Given the description of an element on the screen output the (x, y) to click on. 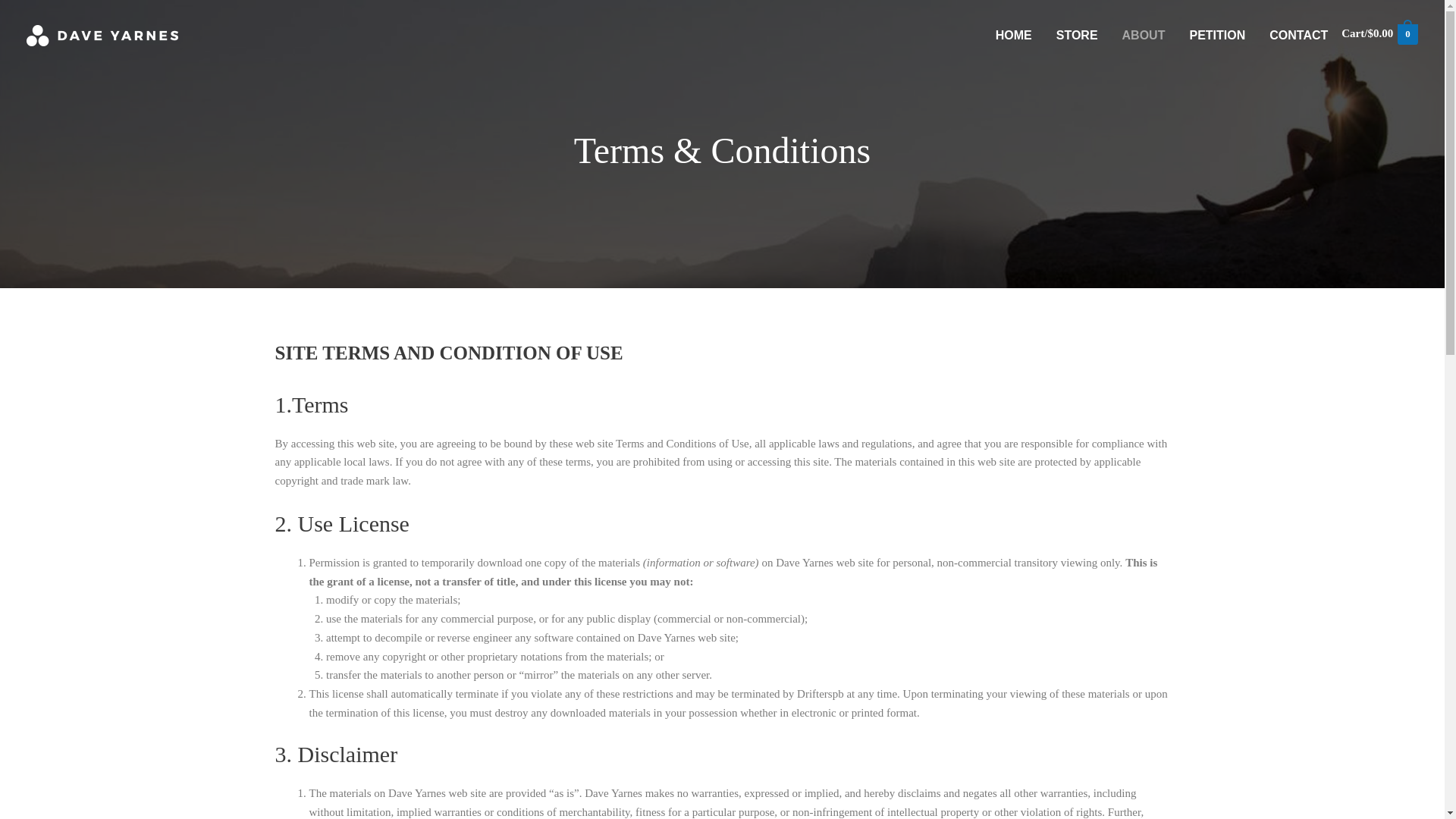
ABOUT (1143, 35)
STORE (1076, 35)
CONTACT (1298, 35)
PETITION (1216, 35)
HOME (1013, 35)
